Given the description of an element on the screen output the (x, y) to click on. 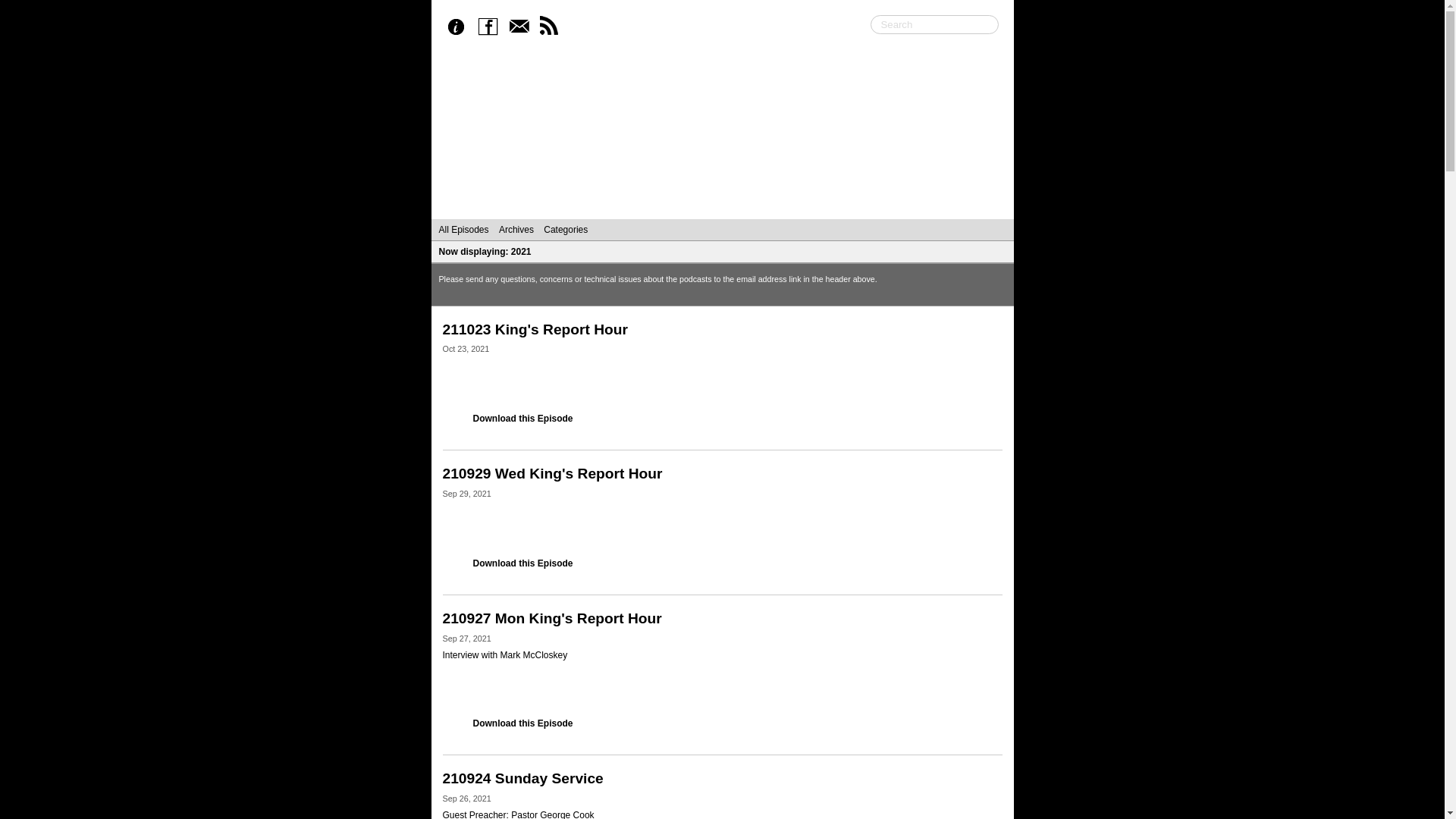
0 Element type: text (991, 497)
Libsyn Player Element type: hover (722, 688)
210929 Wed King's Report Hour Element type: text (722, 477)
210924 Sunday Service Element type: text (722, 781)
Download this Episode Element type: text (523, 563)
Libsyn Player Element type: hover (722, 383)
Categories Element type: text (565, 229)
Email Element type: hover (521, 26)
0 Element type: text (991, 352)
211023 King's Report Hour Element type: text (722, 333)
Facebook Element type: hover (491, 26)
Libsyn Player Element type: hover (722, 528)
210927 Mon King's Report Hour Element type: text (722, 621)
0 Element type: text (991, 641)
Download this Episode Element type: text (523, 418)
Archives Element type: text (515, 229)
0 Element type: text (991, 801)
RSS Feed Element type: hover (551, 26)
All Episodes Element type: text (463, 229)
Download this Episode Element type: text (523, 723)
